Given the description of an element on the screen output the (x, y) to click on. 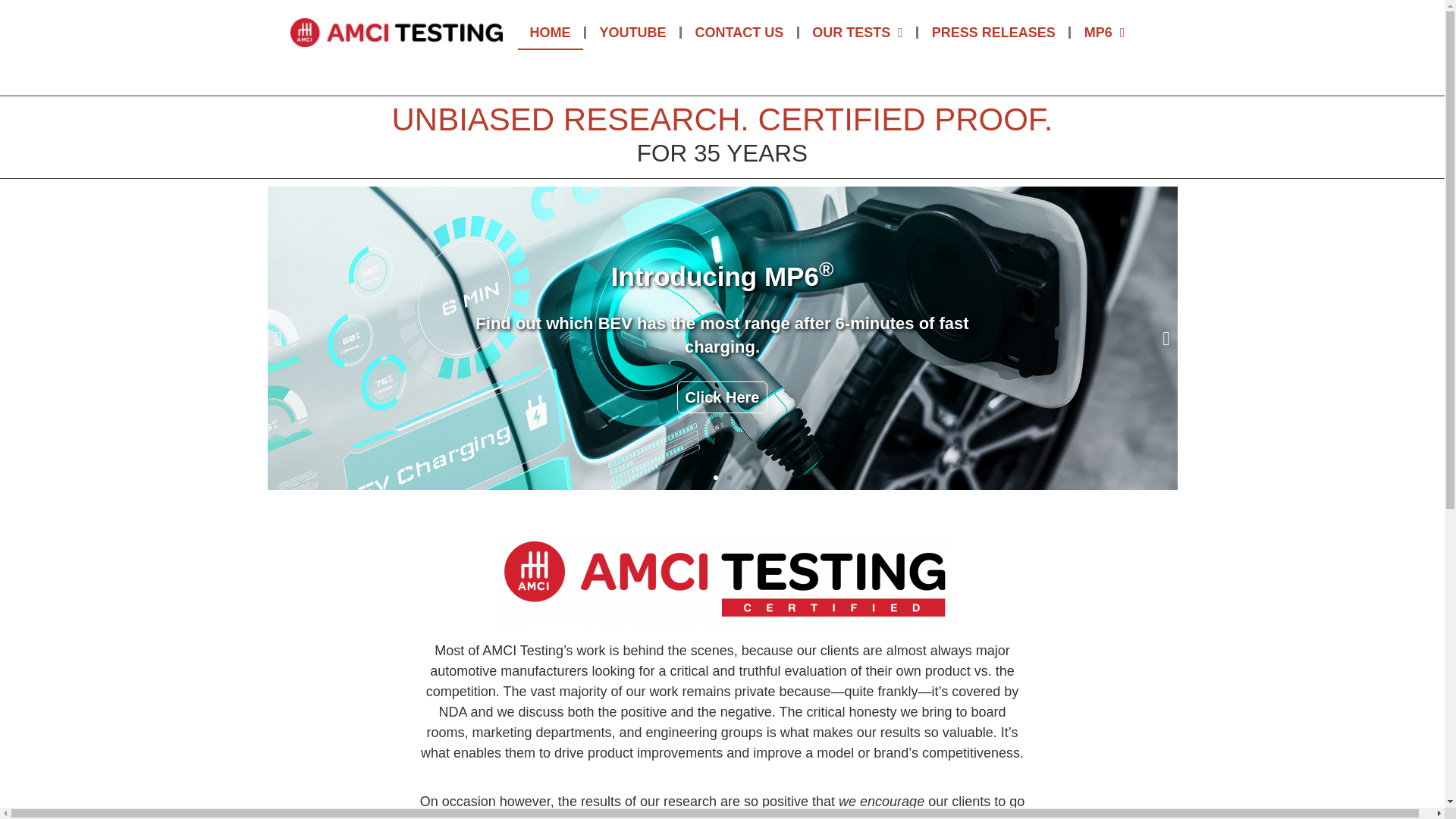
CONTACT US (739, 32)
OUR TESTS (857, 32)
PRESS RELEASES (993, 32)
YOUTUBE (632, 32)
MP6 (1104, 32)
HOME (549, 32)
